Given the description of an element on the screen output the (x, y) to click on. 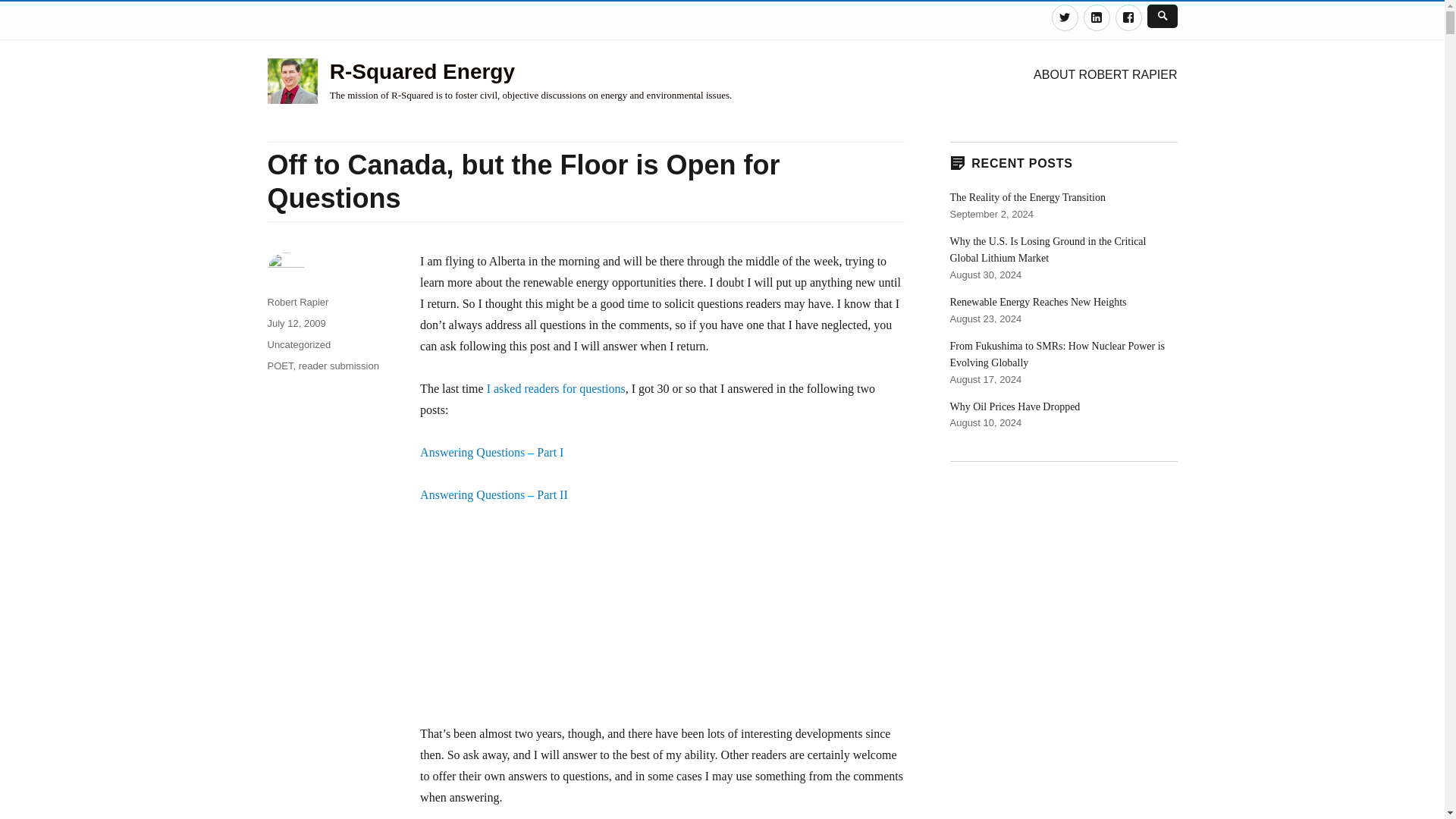
Advertisement (662, 621)
Linkedin (1096, 17)
July 12, 2009 (295, 323)
POET (279, 365)
Twitter (1064, 17)
reader submission (338, 365)
Uncategorized (298, 344)
Facebook (1128, 17)
I asked readers for questions (556, 388)
ABOUT ROBERT RAPIER (1105, 74)
